Given the description of an element on the screen output the (x, y) to click on. 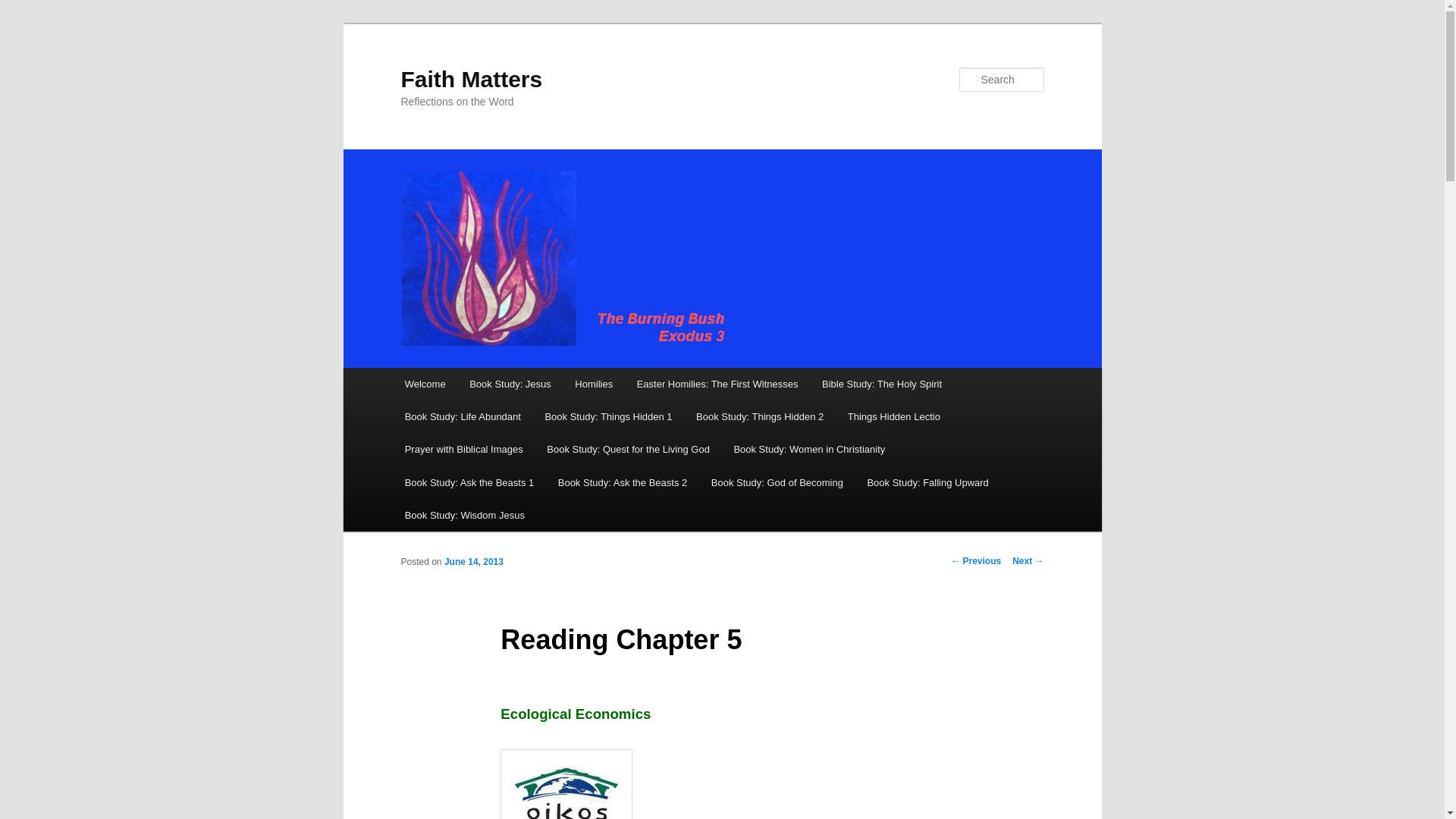
Bible Study: The Holy Spirit (881, 383)
Book Study: Falling Upward (928, 482)
Things Hidden Lectio (893, 416)
Book Study: Wisdom Jesus (465, 514)
Homilies (593, 383)
Book Study: Ask the Beasts 1 (469, 482)
Search (24, 8)
Book Study: Things Hidden 2 (759, 416)
10:11 am (473, 561)
Book Study: God of Becoming (777, 482)
Book Study: Jesus (509, 383)
Book Study: Things Hidden 1 (608, 416)
Welcome (425, 383)
June 14, 2013 (473, 561)
